Given the description of an element on the screen output the (x, y) to click on. 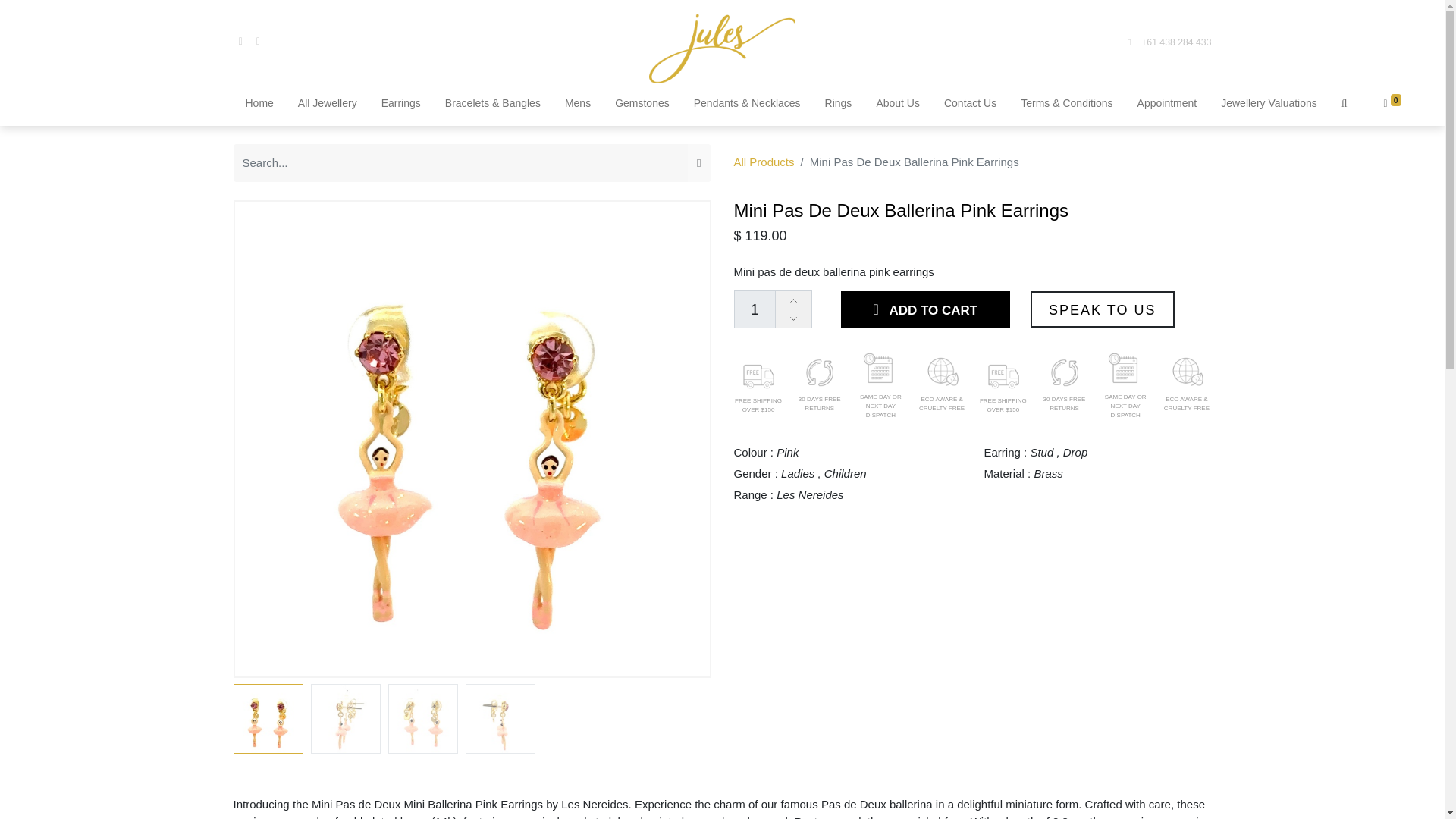
Add one (793, 300)
ADD TO CART (925, 309)
SPEAK TO US (1102, 309)
Remove one (793, 318)
Earrings (400, 104)
Gemstones (641, 104)
Jewellery Valuations (1269, 104)
1 (754, 309)
All Jewellery (327, 104)
Appointment (1166, 104)
Jules Collins Jewellery (721, 41)
All Products (763, 161)
Contact Us (969, 104)
About Us (898, 104)
